Given the description of an element on the screen output the (x, y) to click on. 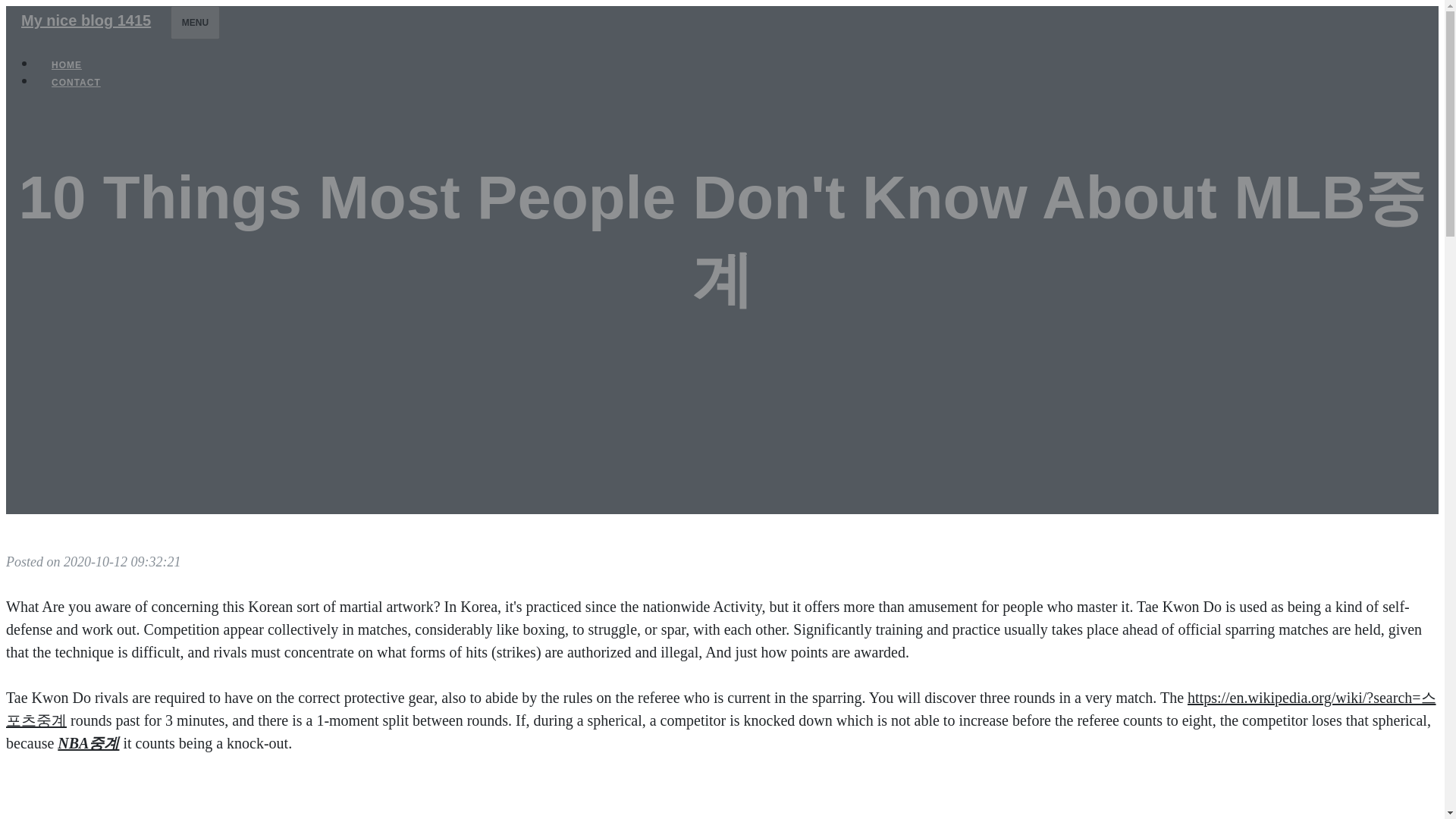
CONTACT (76, 82)
HOME (66, 64)
My nice blog 1415 (85, 20)
MENU (194, 22)
